Given the description of an element on the screen output the (x, y) to click on. 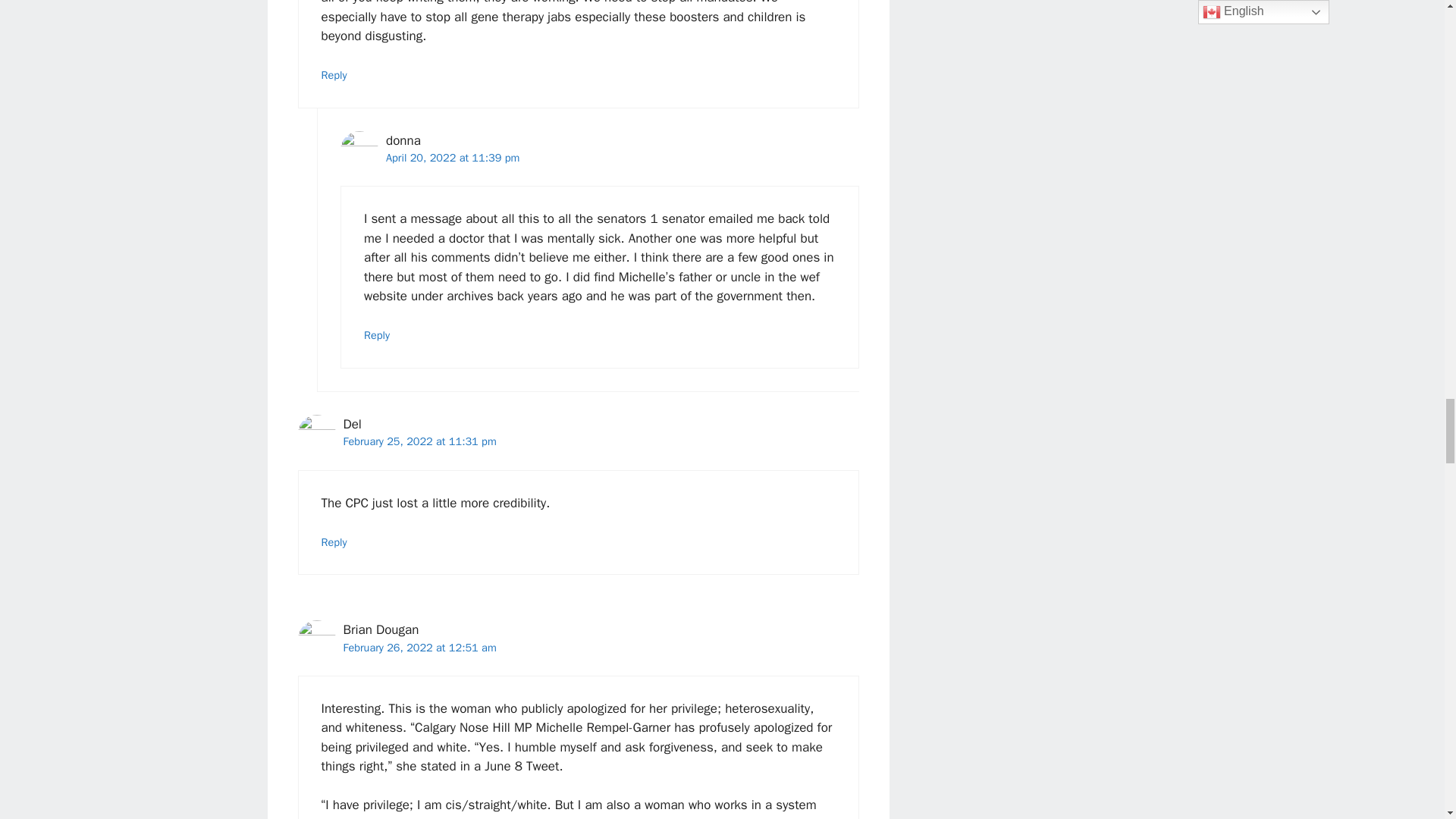
February 26, 2022 at 12:51 am (419, 647)
April 20, 2022 at 11:39 pm (452, 157)
Reply (334, 74)
February 25, 2022 at 11:31 pm (419, 440)
Reply (377, 335)
Reply (334, 541)
